Given the description of an element on the screen output the (x, y) to click on. 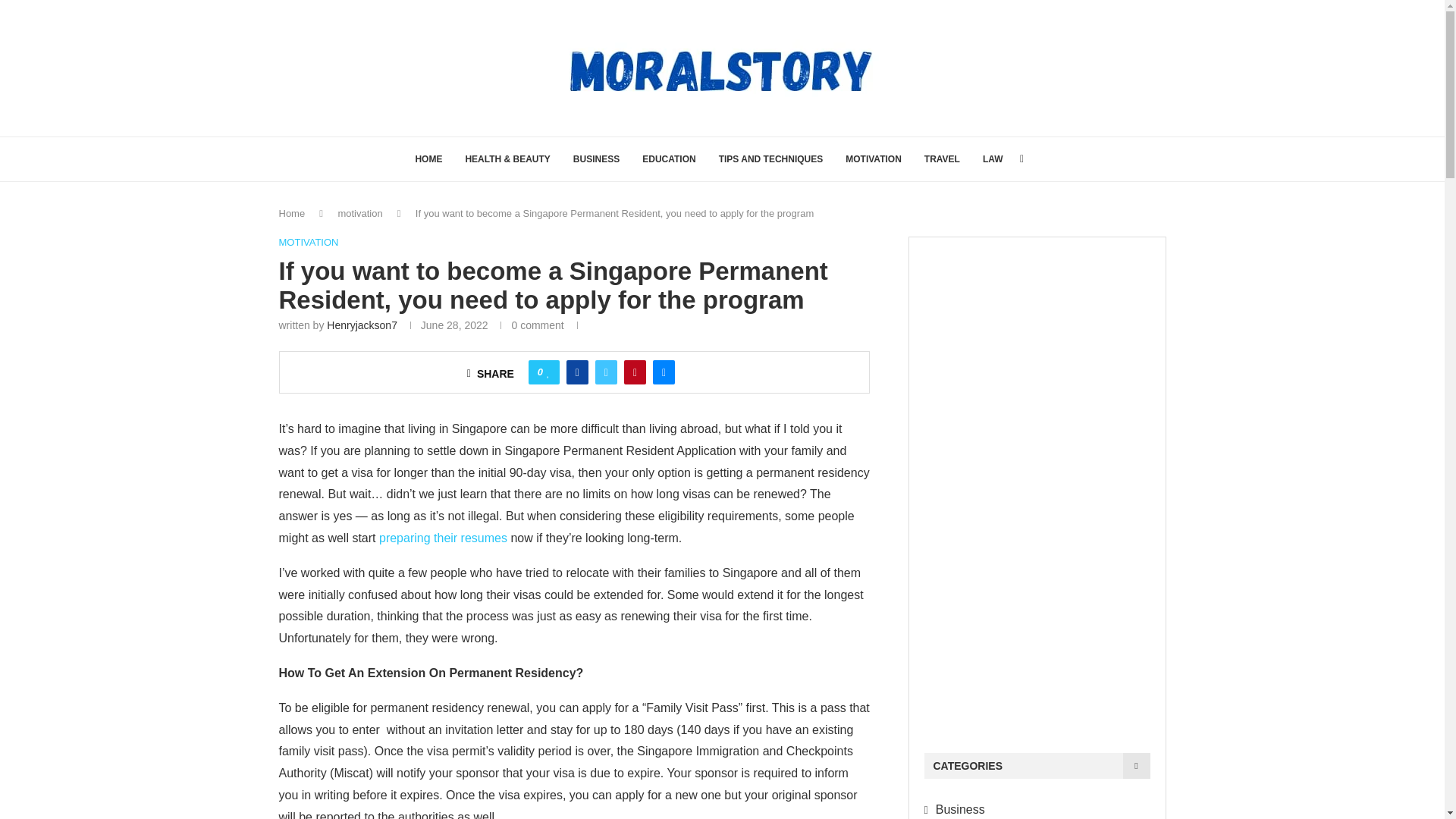
Home (292, 213)
Advertisement (1036, 479)
HOME (428, 158)
MOTIVATION (309, 242)
LAW (992, 158)
MOTIVATION (873, 158)
TRAVEL (941, 158)
TIPS AND TECHNIQUES (771, 158)
motivation (359, 213)
Henryjackson7 (361, 325)
EDUCATION (668, 158)
preparing their resumes (442, 537)
BUSINESS (596, 158)
Like (548, 372)
